Given the description of an element on the screen output the (x, y) to click on. 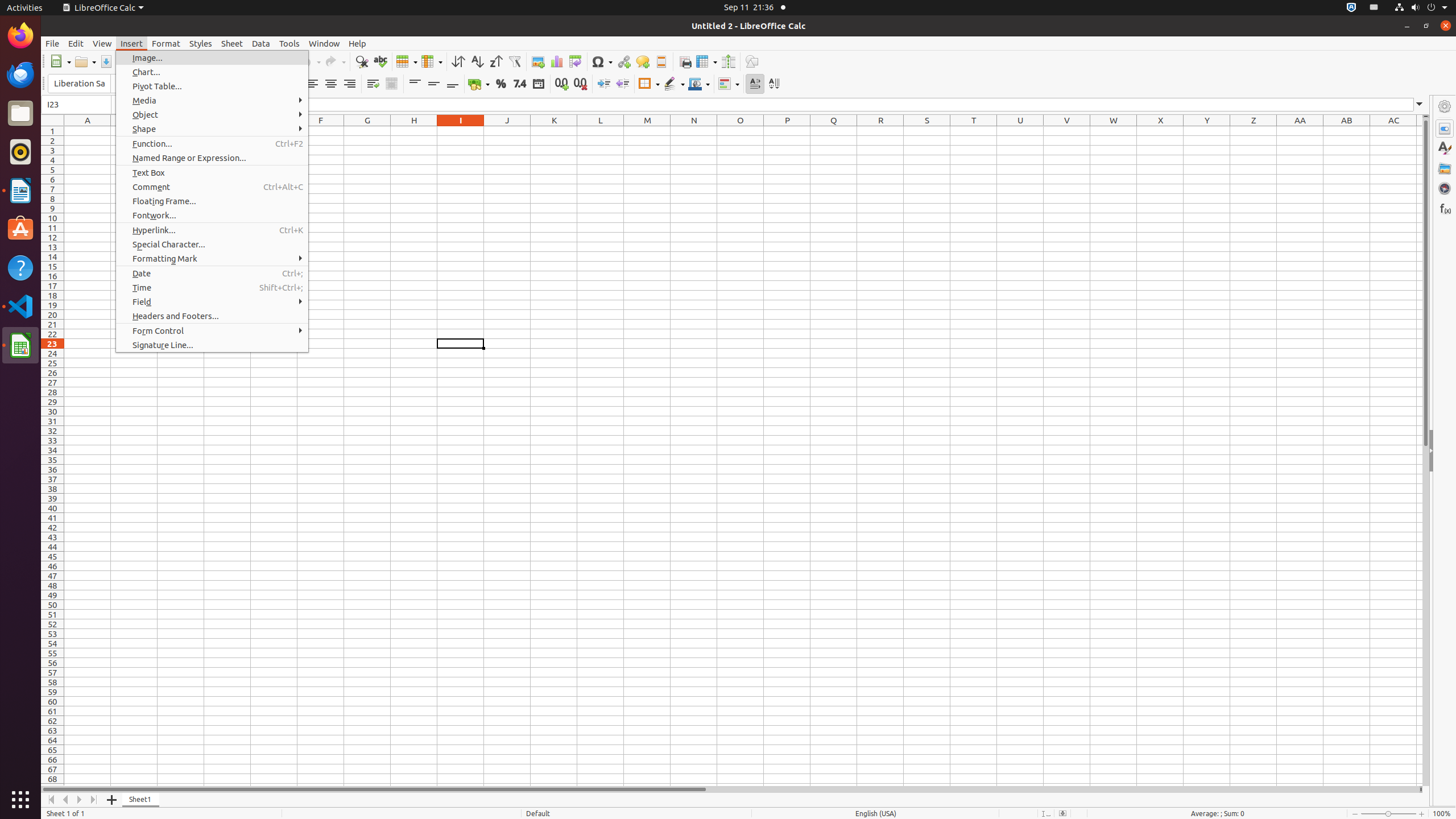
Trash Element type: label (75, 108)
Y1 Element type: table-cell (1206, 130)
Functions Element type: radio-button (1444, 208)
Sort Descending Element type: push-button (495, 61)
Align Center Element type: push-button (330, 83)
